Given the description of an element on the screen output the (x, y) to click on. 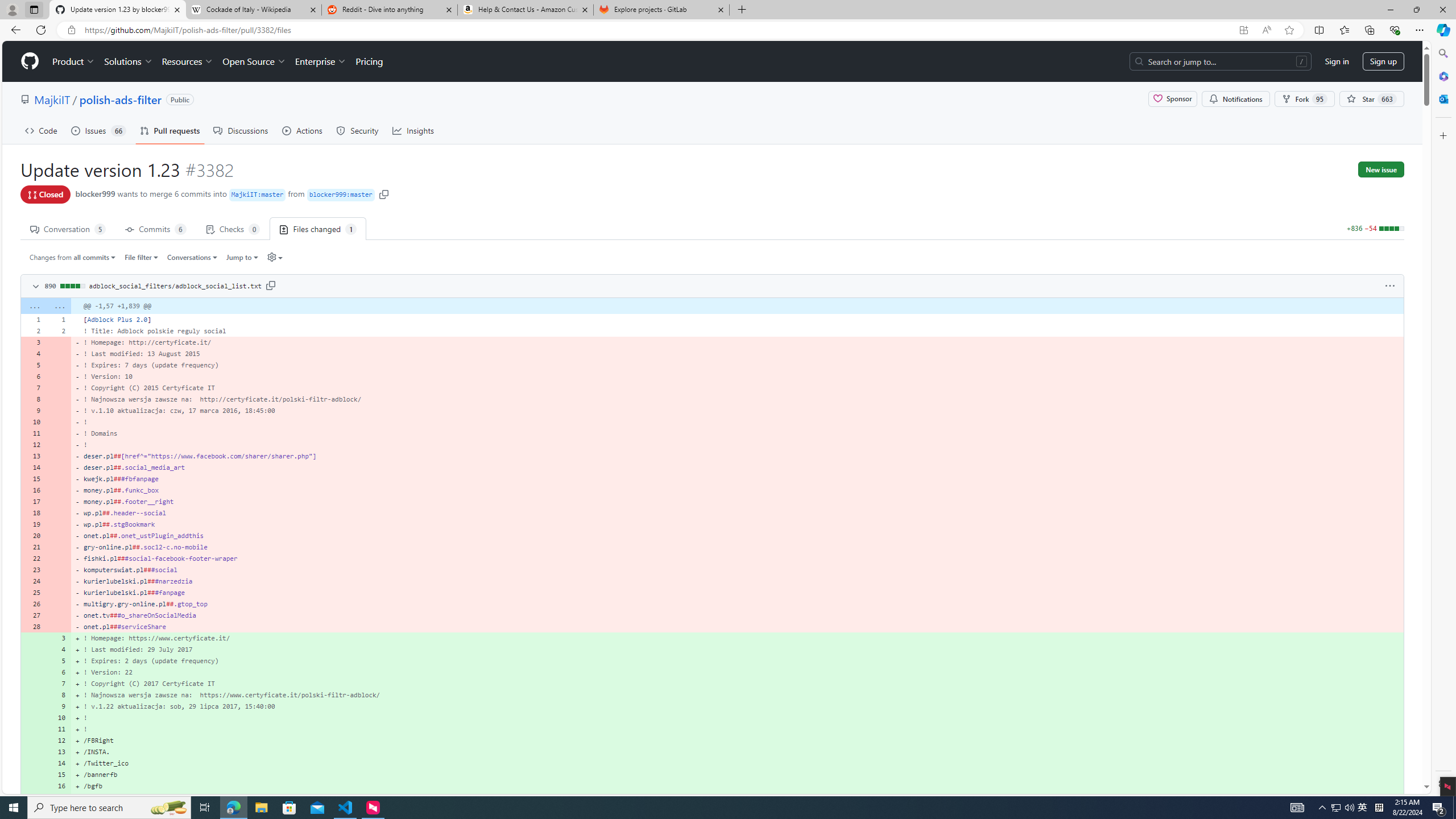
Solutions (128, 60)
24 (33, 581)
Pull requests (170, 130)
Original file line number (35, 316)
+ /bannerfb  (737, 774)
App available. Install GitHub (1243, 29)
Sponsor (1171, 98)
File filter (141, 257)
Show options (1390, 285)
+ ! Expires: 2 days (update frequency)  (737, 660)
You must be signed in to change notification settings (1235, 98)
Issues 66 (98, 130)
- onet.tv###o_shareOnSocialMedia (737, 614)
- ! (737, 444)
